Given the description of an element on the screen output the (x, y) to click on. 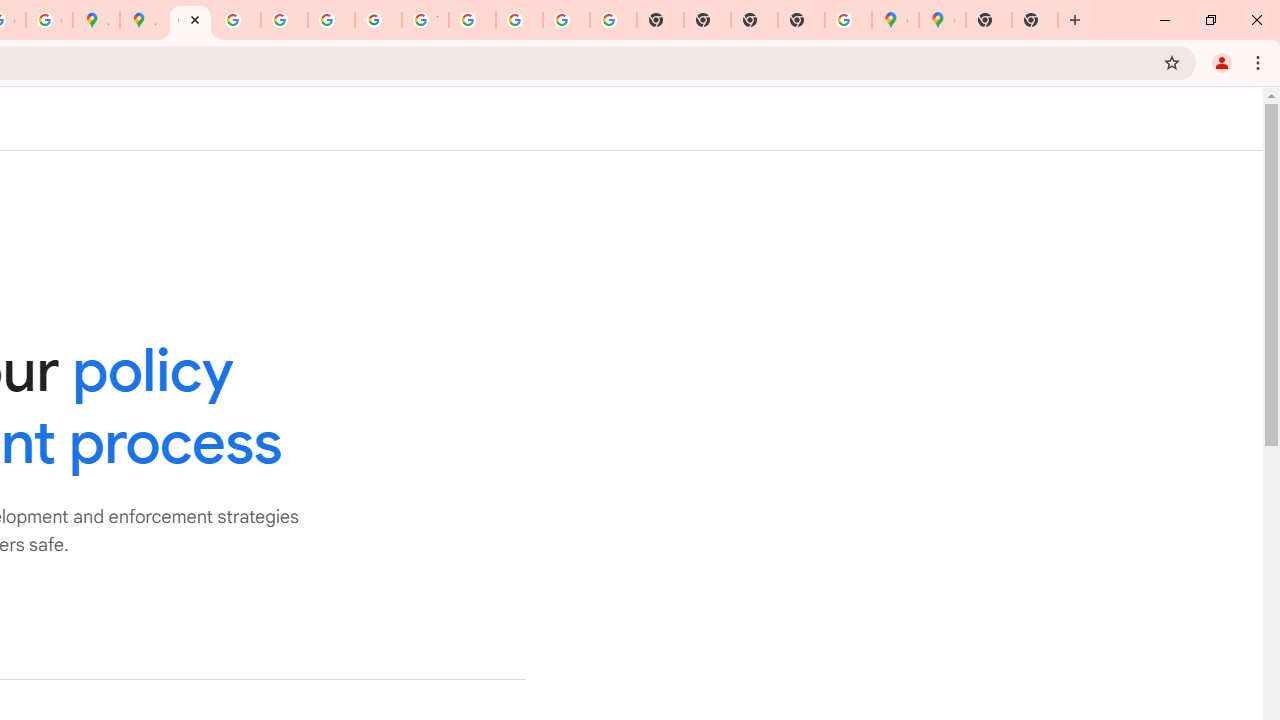
Use Google Maps in Space - Google Maps Help (848, 20)
New Tab (1035, 20)
Privacy Help Center - Policies Help (237, 20)
Privacy Help Center - Policies Help (284, 20)
